Given the description of an element on the screen output the (x, y) to click on. 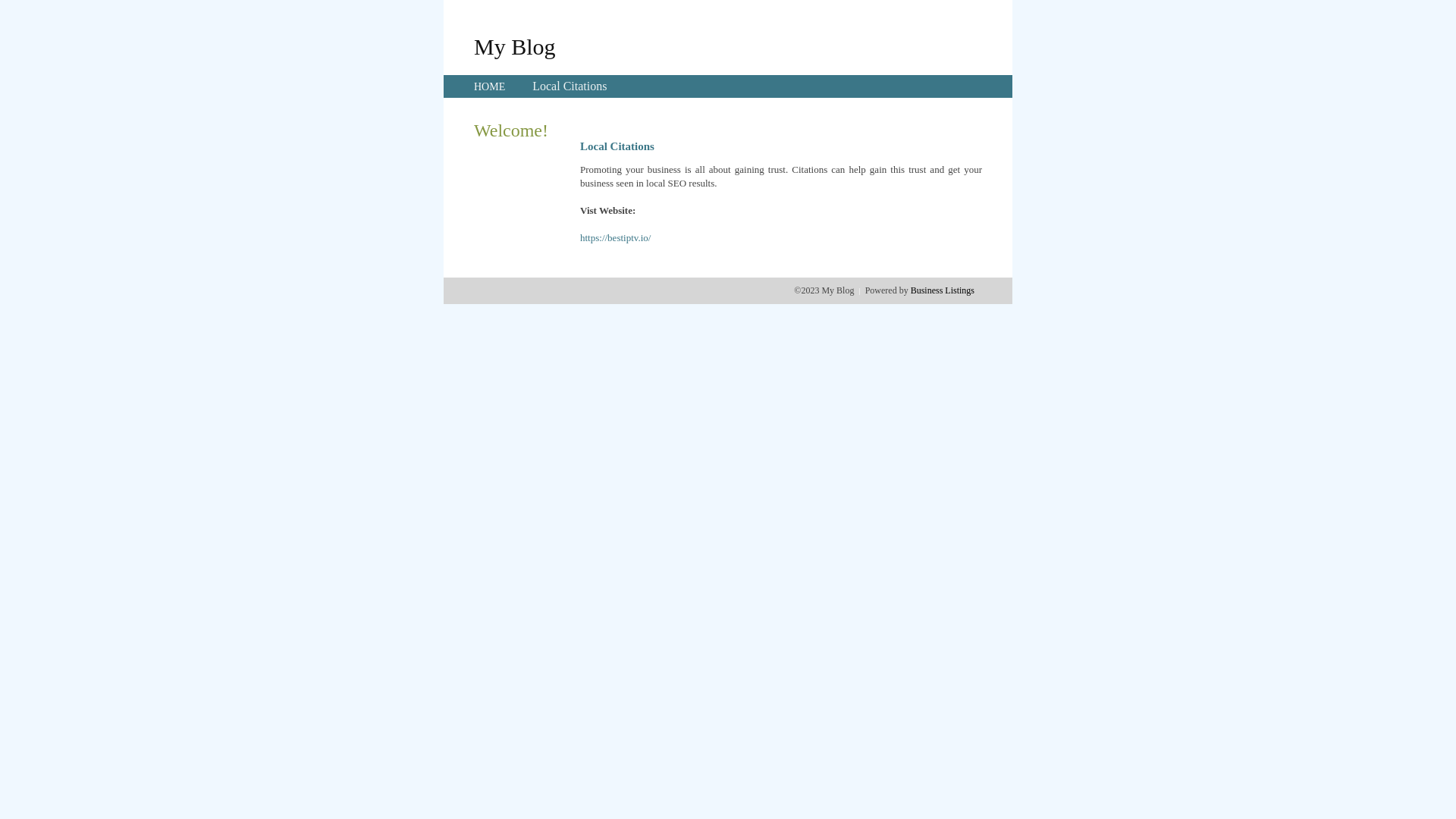
HOME Element type: text (489, 86)
Local Citations Element type: text (569, 85)
My Blog Element type: text (514, 46)
Business Listings Element type: text (942, 290)
https://bestiptv.io/ Element type: text (615, 237)
